Given the description of an element on the screen output the (x, y) to click on. 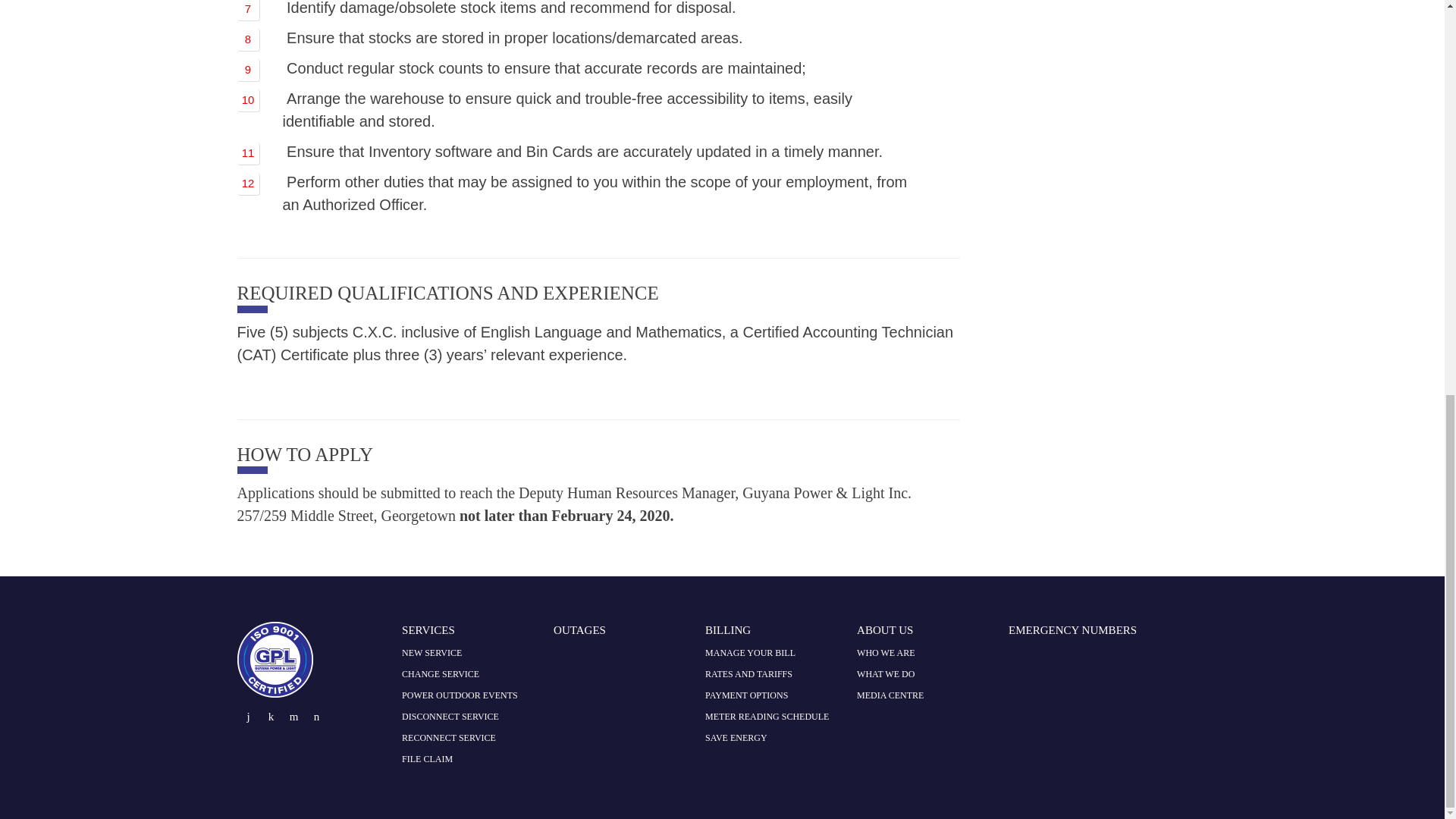
POWER OUTDOOR EVENTS (459, 695)
CHANGE SERVICE (440, 674)
Guyana Power and Light Incorporated (274, 692)
SERVICES (427, 630)
NEW SERVICE (431, 652)
